Given the description of an element on the screen output the (x, y) to click on. 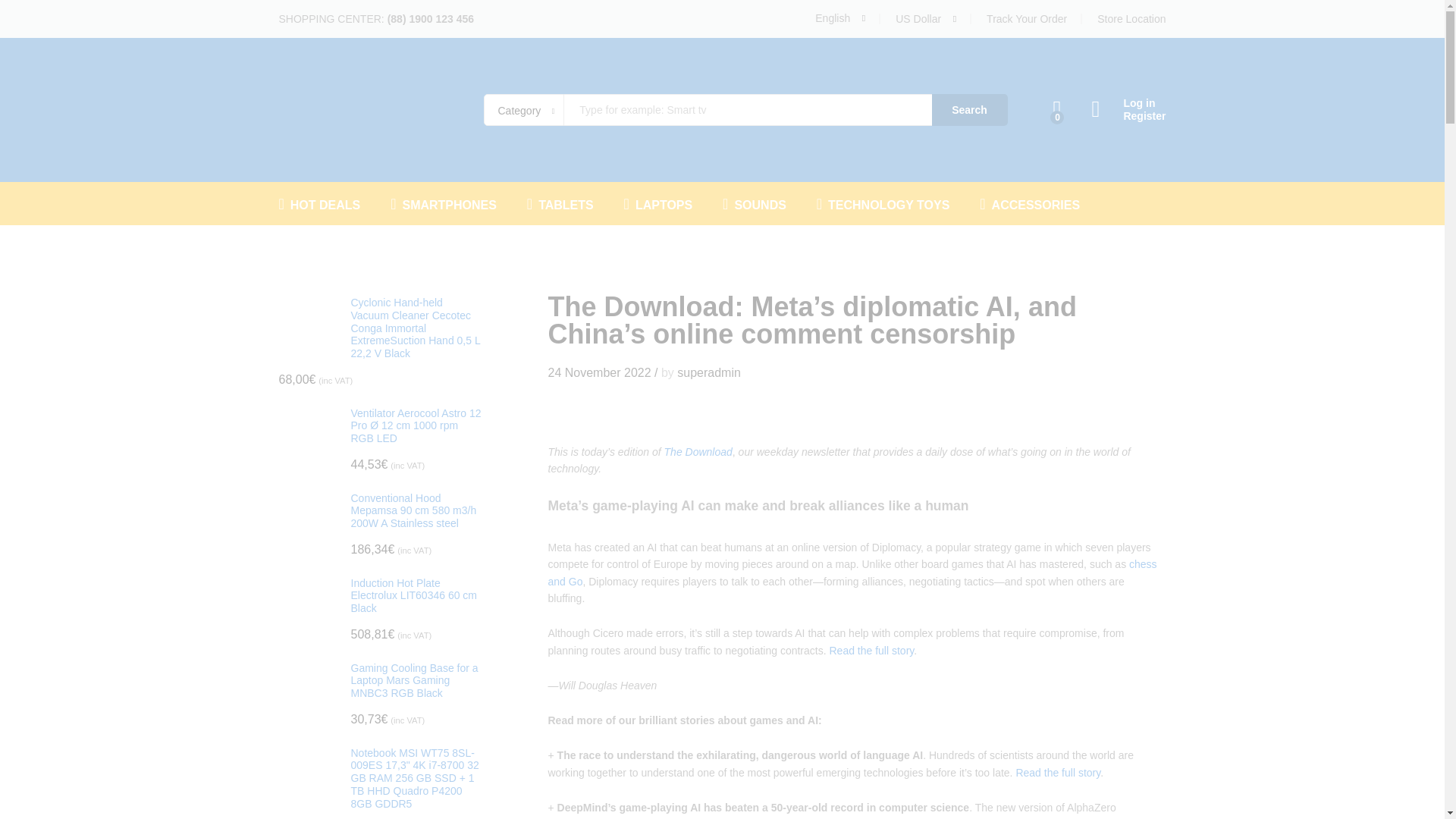
French (881, 60)
English (839, 18)
Log in (1128, 103)
US Dollar (965, 61)
European Euro (978, 83)
Read the full story (871, 650)
24 November 2022 (598, 372)
Search (969, 110)
Track Your Order (1027, 19)
SMARTPHONES (443, 203)
